Given the description of an element on the screen output the (x, y) to click on. 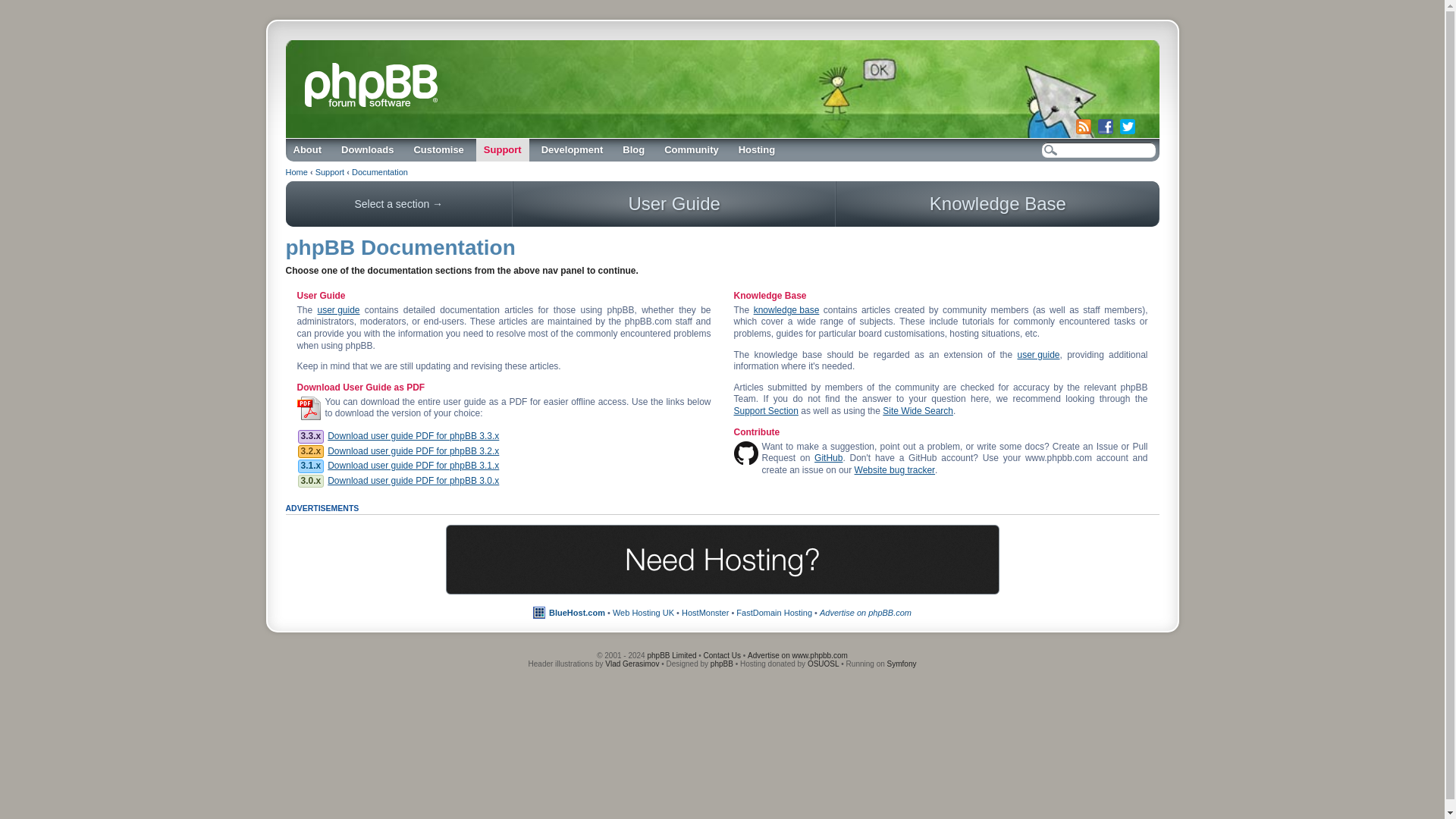
Downloads (367, 149)
Customise (438, 149)
About (307, 149)
